Given the description of an element on the screen output the (x, y) to click on. 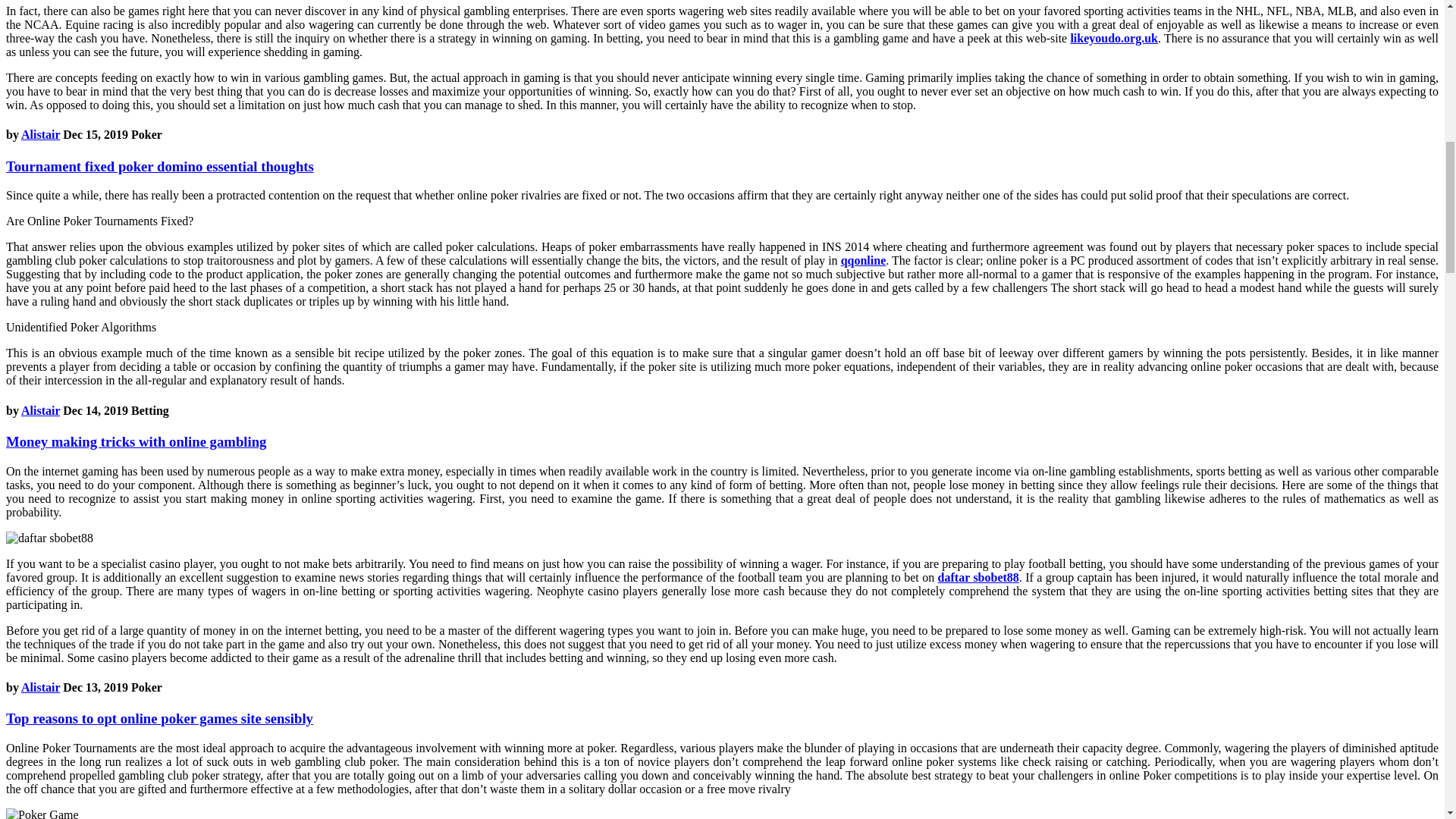
Alistair (40, 686)
Tournament fixed poker domino essential thoughts (159, 166)
daftar sbobet88 (978, 576)
Top reasons to opt online poker games site sensibly (159, 718)
likeyoudo.org.uk (1113, 38)
qqonline (863, 259)
Alistair (40, 133)
Money making tricks with online gambling (135, 441)
Alistair (40, 410)
